Given the description of an element on the screen output the (x, y) to click on. 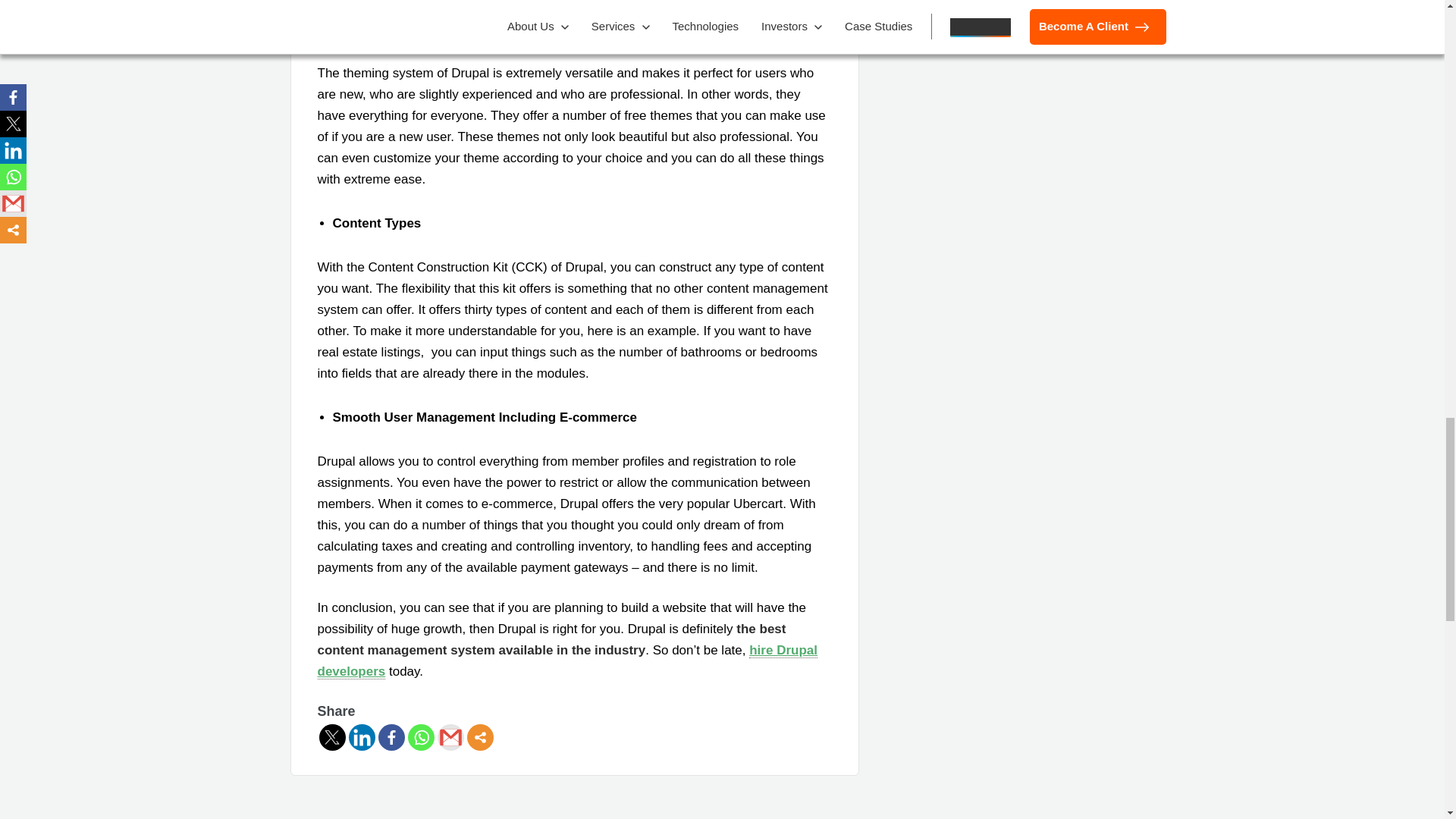
Google Gmail (449, 737)
Linkedin (362, 737)
Twitter (331, 737)
Facebook (390, 737)
More (480, 737)
Whatsapp (420, 737)
